Given the description of an element on the screen output the (x, y) to click on. 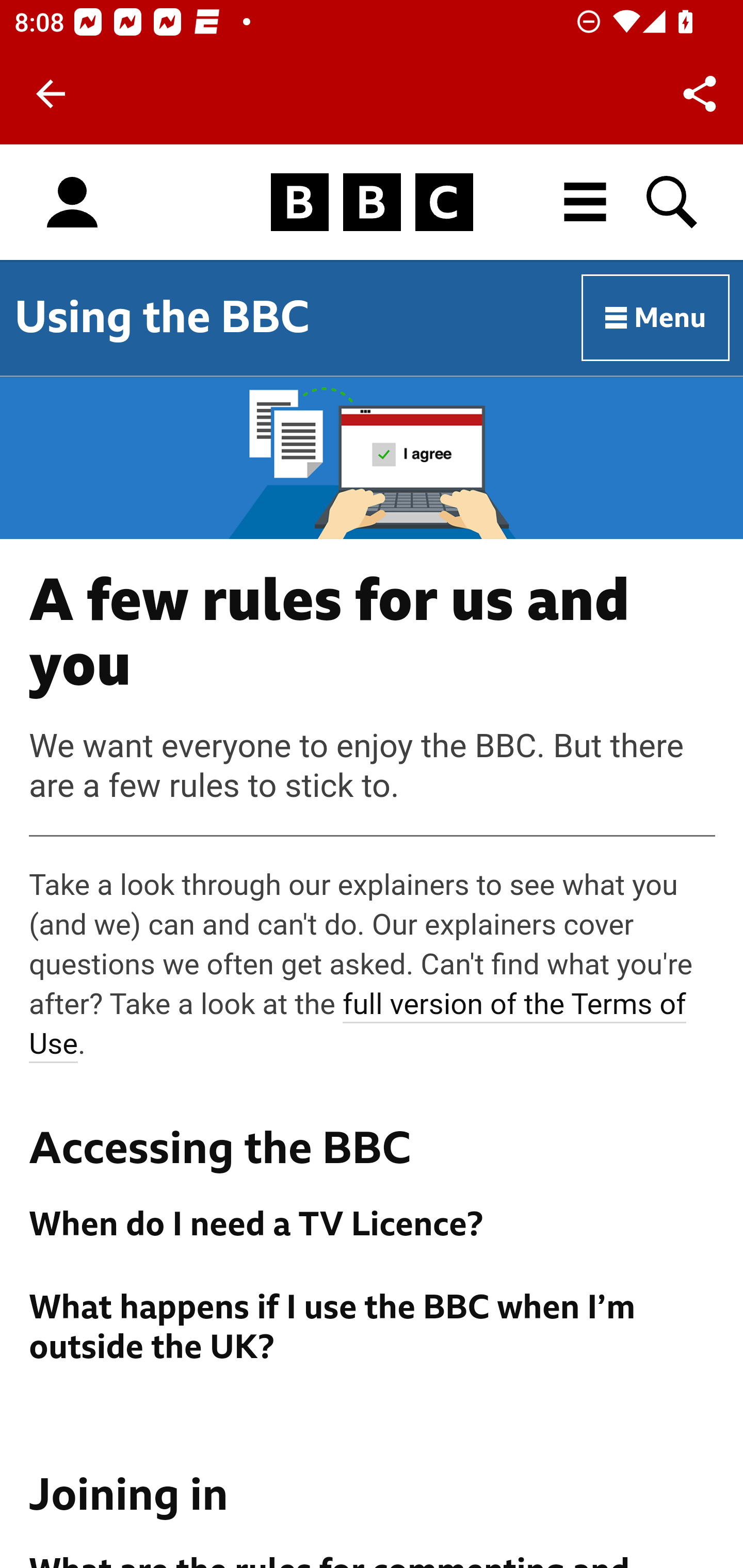
Back (50, 93)
Share (699, 93)
All BBC destinations menu (585, 202)
Search BBC (672, 202)
Sign in (71, 203)
Homepage (371, 203)
Menu (656, 318)
Using the BBC (162, 317)
full version of the Terms of Use (358, 1024)
When do I need a TV Licence? (372, 1224)
